Given the description of an element on the screen output the (x, y) to click on. 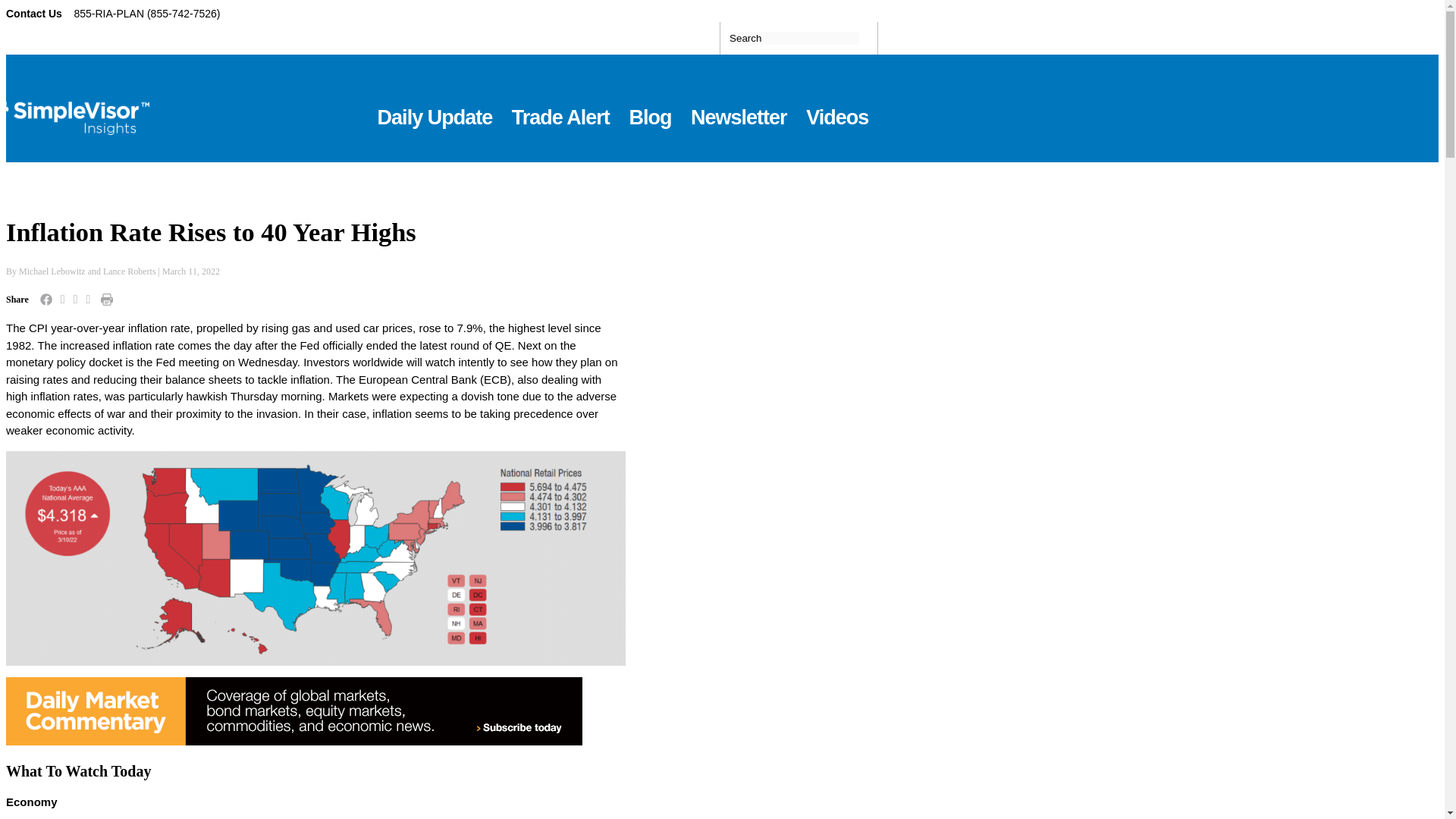
Newsletter (738, 108)
Trade Alert (561, 108)
Contact Us (35, 13)
Daily Update (435, 108)
